Given the description of an element on the screen output the (x, y) to click on. 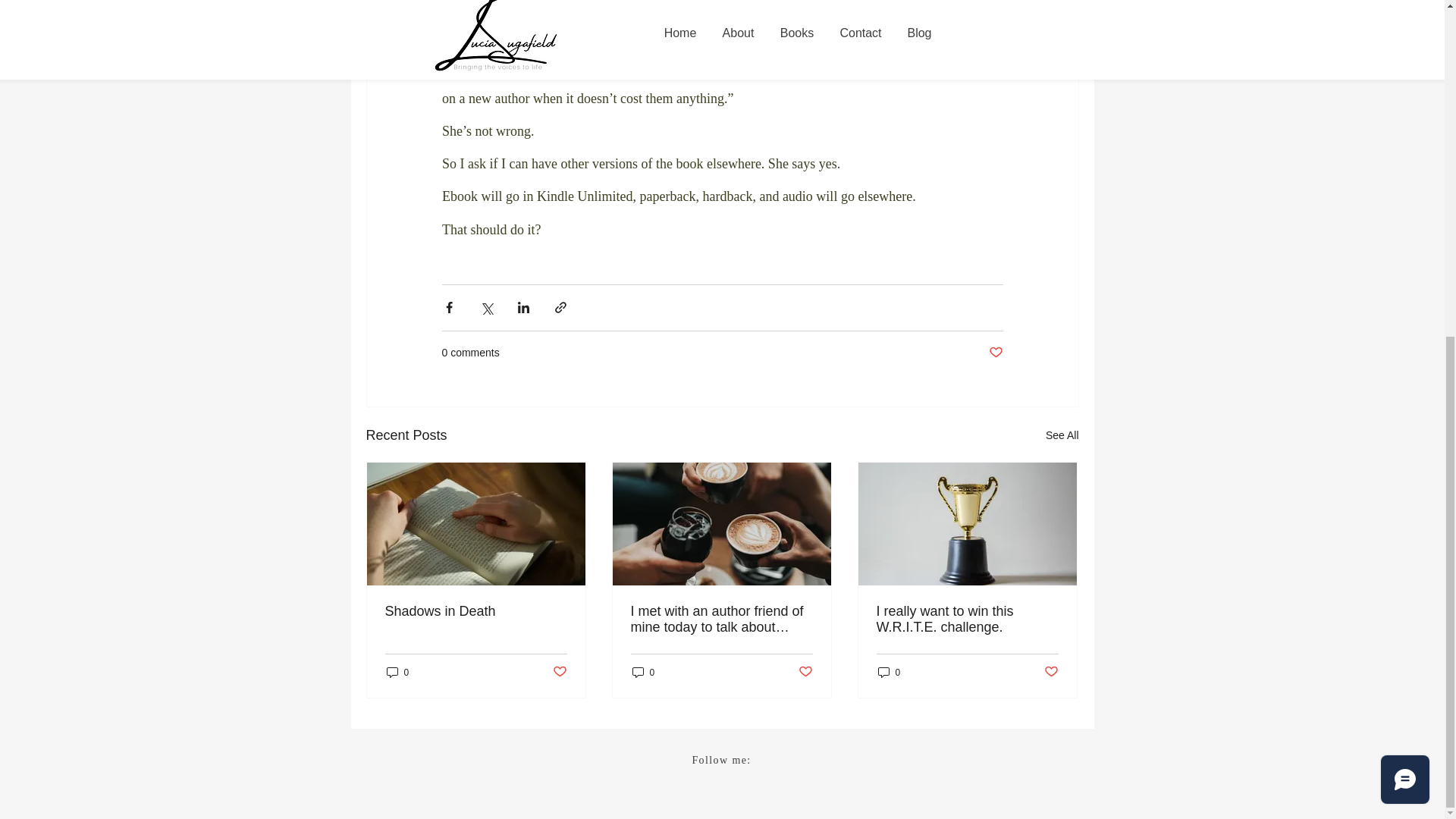
Post not marked as liked (1050, 672)
Post not marked as liked (995, 352)
Post not marked as liked (558, 672)
0 (889, 672)
0 (643, 672)
Shadows in Death (476, 611)
Post not marked as liked (804, 672)
See All (1061, 435)
0 (397, 672)
I really want to win this W.R.I.T.E. challenge. (967, 619)
